Given the description of an element on the screen output the (x, y) to click on. 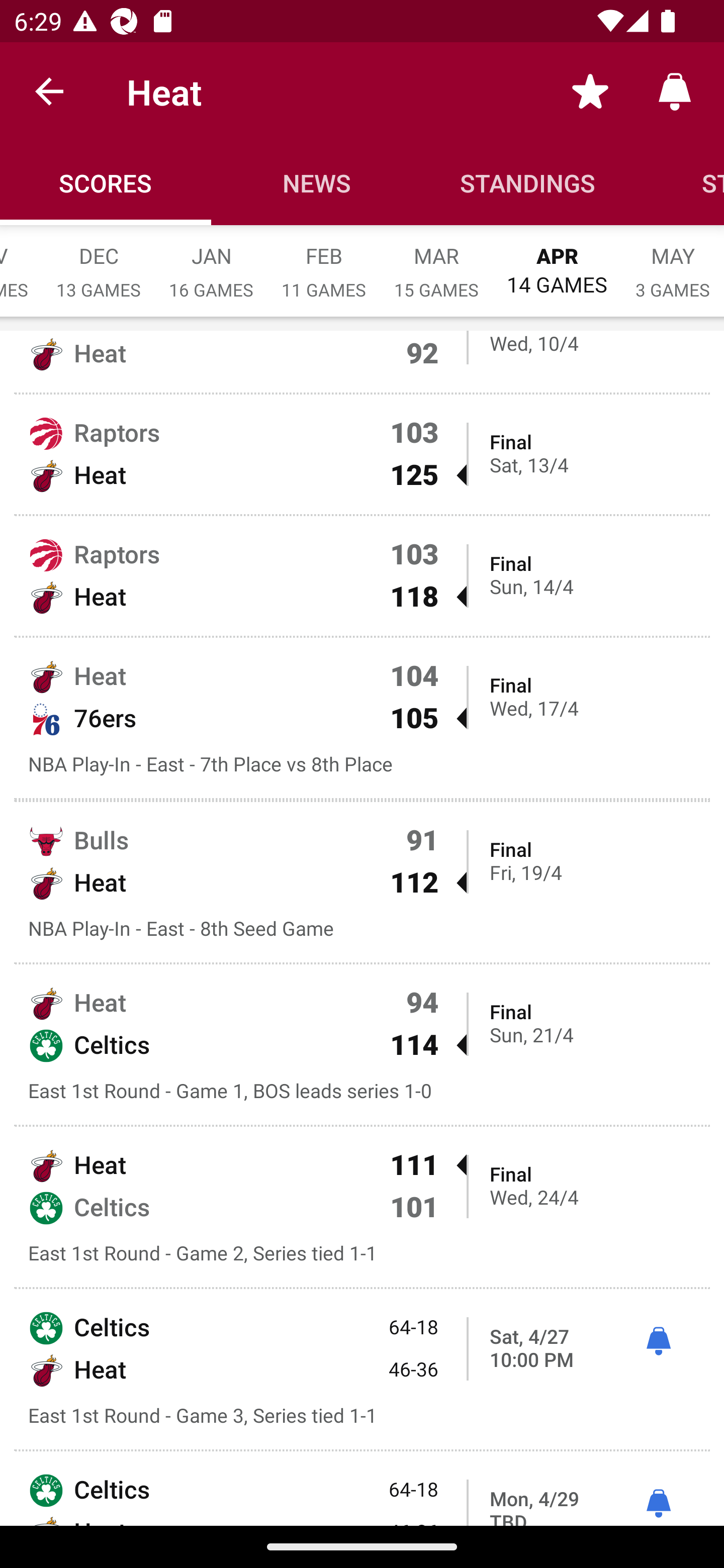
back.button (49, 90)
Favorite toggle (590, 90)
Alerts (674, 90)
News NEWS (316, 183)
Standings STANDINGS (527, 183)
DEC 13 GAMES (97, 262)
JAN 16 GAMES (210, 262)
FEB 11 GAMES (323, 262)
MAR 15 GAMES (436, 262)
APR 14 GAMES (557, 261)
MAY 3 GAMES (672, 262)
Heat 92 Final Wed, 10/4 (362, 361)
Raptors 103 Heat 125  Final Sat, 13/4 (362, 454)
Raptors 103 Heat 118  Final Sun, 14/4 (362, 575)
ì (658, 1341)
ì (658, 1503)
